Given the description of an element on the screen output the (x, y) to click on. 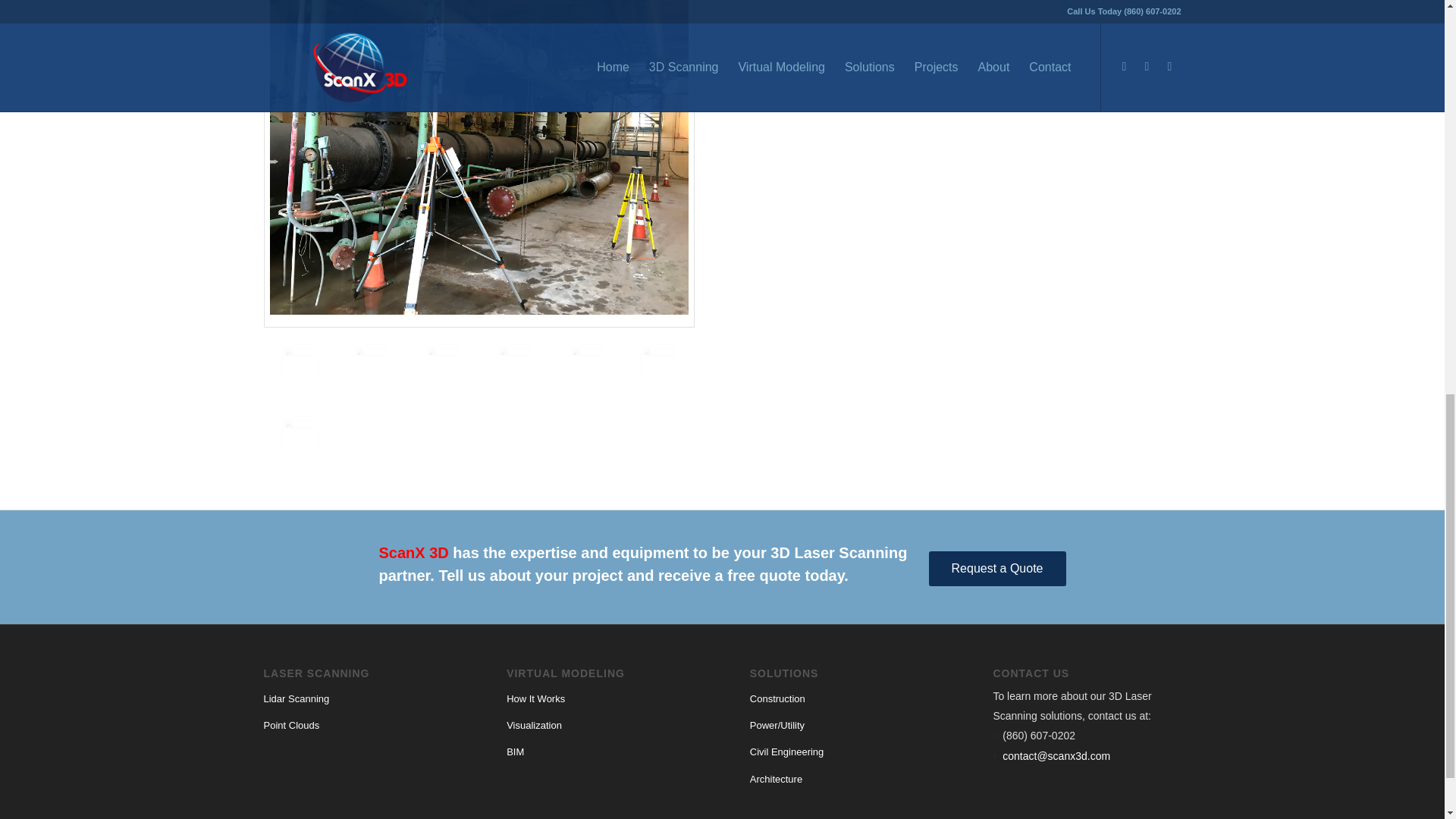
BIM (600, 752)
Construction (843, 699)
Visualization (600, 725)
FB-PC (389, 380)
Civil Engineering (843, 752)
Lidar Scanning (357, 699)
FB-True (317, 380)
FB-True (299, 362)
Clarifier (515, 362)
FB-Model (461, 380)
FB-True (478, 157)
Request a Quote (996, 568)
Point Clouds (357, 725)
FB-PC (370, 362)
